Given the description of an element on the screen output the (x, y) to click on. 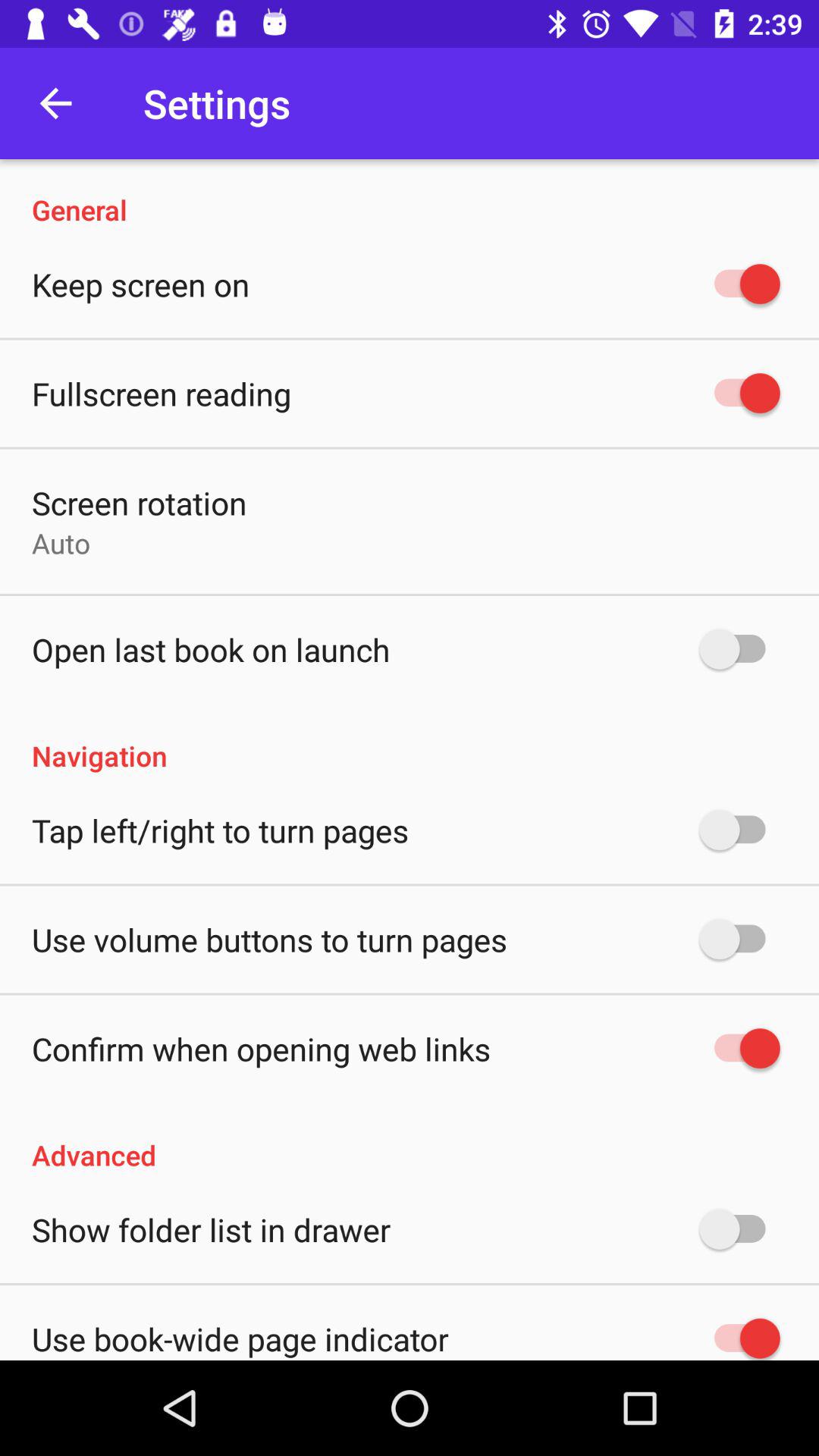
select show folder list item (210, 1229)
